Given the description of an element on the screen output the (x, y) to click on. 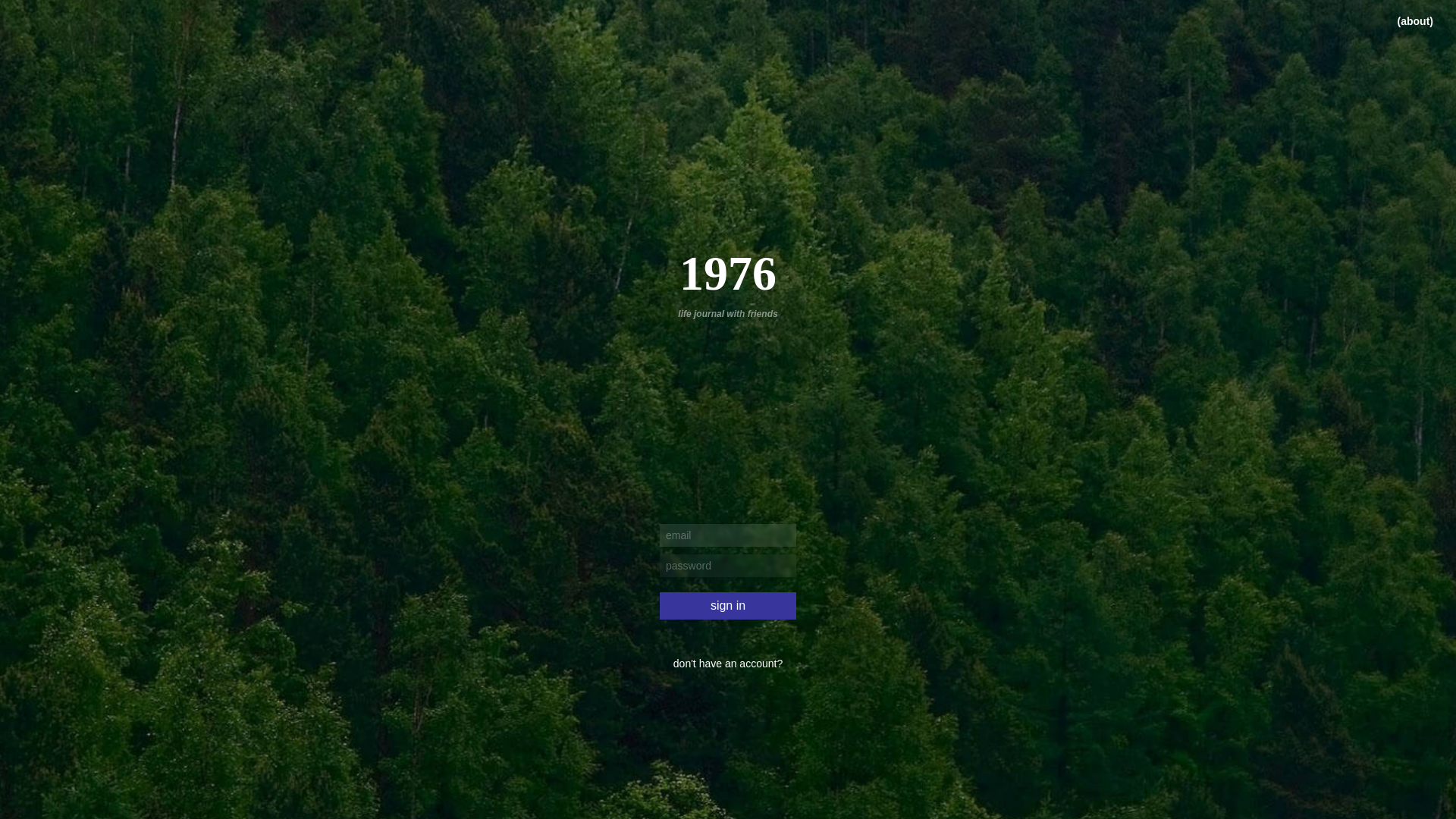
sign in Element type: text (727, 605)
